Given the description of an element on the screen output the (x, y) to click on. 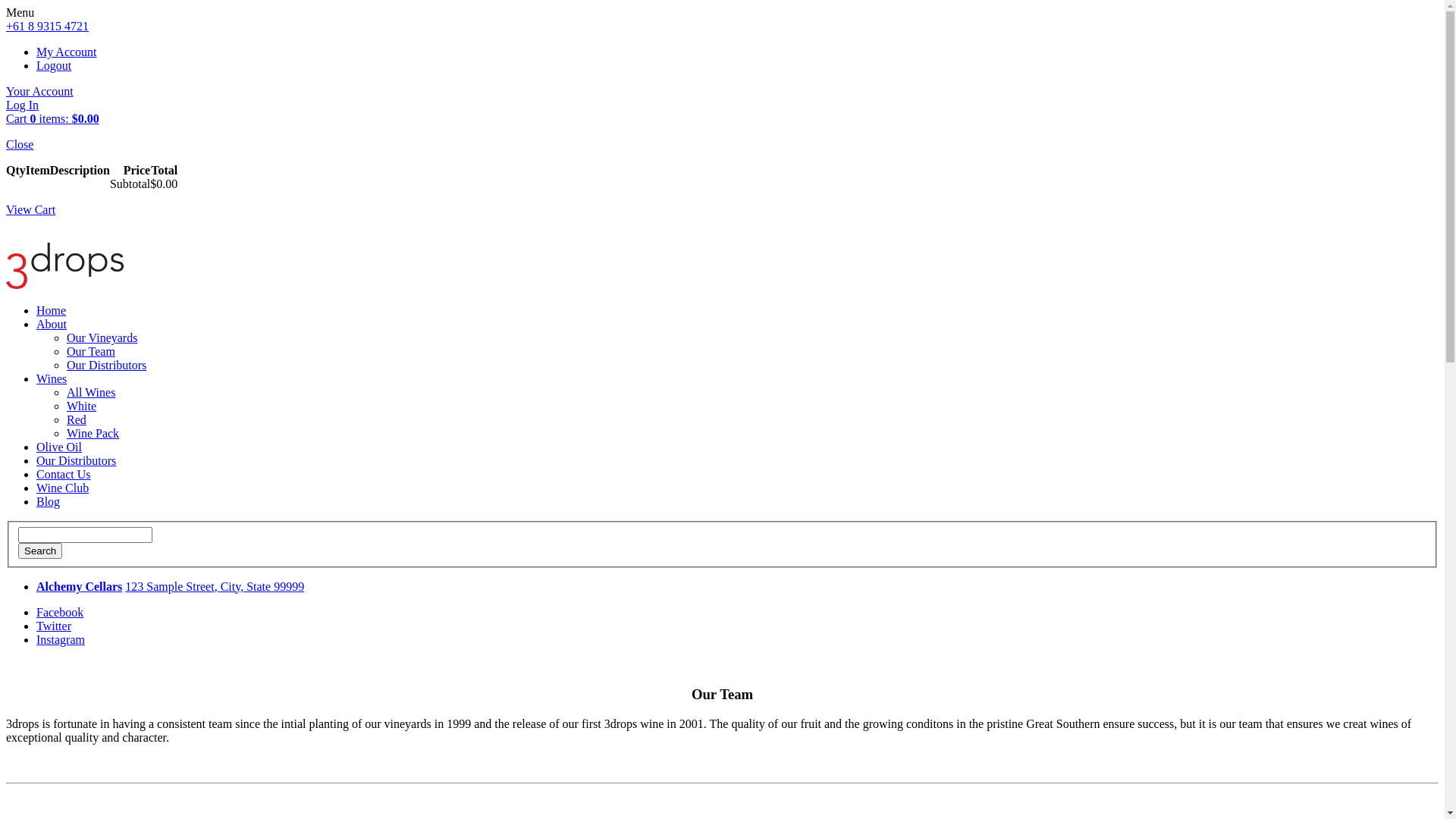
Home Element type: text (50, 310)
My Account Element type: text (66, 51)
Red Element type: text (76, 419)
Olive Oil Element type: text (58, 446)
Close Element type: text (19, 144)
123 Sample Street, City, State 99999 Element type: text (214, 586)
Our Vineyards Element type: text (101, 337)
Cart 0 items: $0.00 Element type: text (52, 118)
About Element type: text (51, 323)
Our Team Element type: text (90, 351)
Alchemy Cellars Element type: text (79, 586)
Our Distributors Element type: text (76, 460)
Facebook Element type: text (59, 611)
View Cart Element type: text (30, 209)
Wine Club Element type: text (62, 487)
White Element type: text (81, 405)
Twitter Element type: text (53, 625)
+61 8 9315 4721 Element type: text (47, 25)
Instagram Element type: text (60, 639)
Blog Element type: text (47, 501)
Search Element type: text (40, 550)
Our Distributors Element type: text (106, 364)
Contact Us Element type: text (63, 473)
All Wines Element type: text (90, 391)
Your Account Element type: text (39, 90)
Wines Element type: text (51, 378)
Log In Element type: text (22, 104)
Logout Element type: text (53, 65)
Wine Pack Element type: text (92, 432)
